Given the description of an element on the screen output the (x, y) to click on. 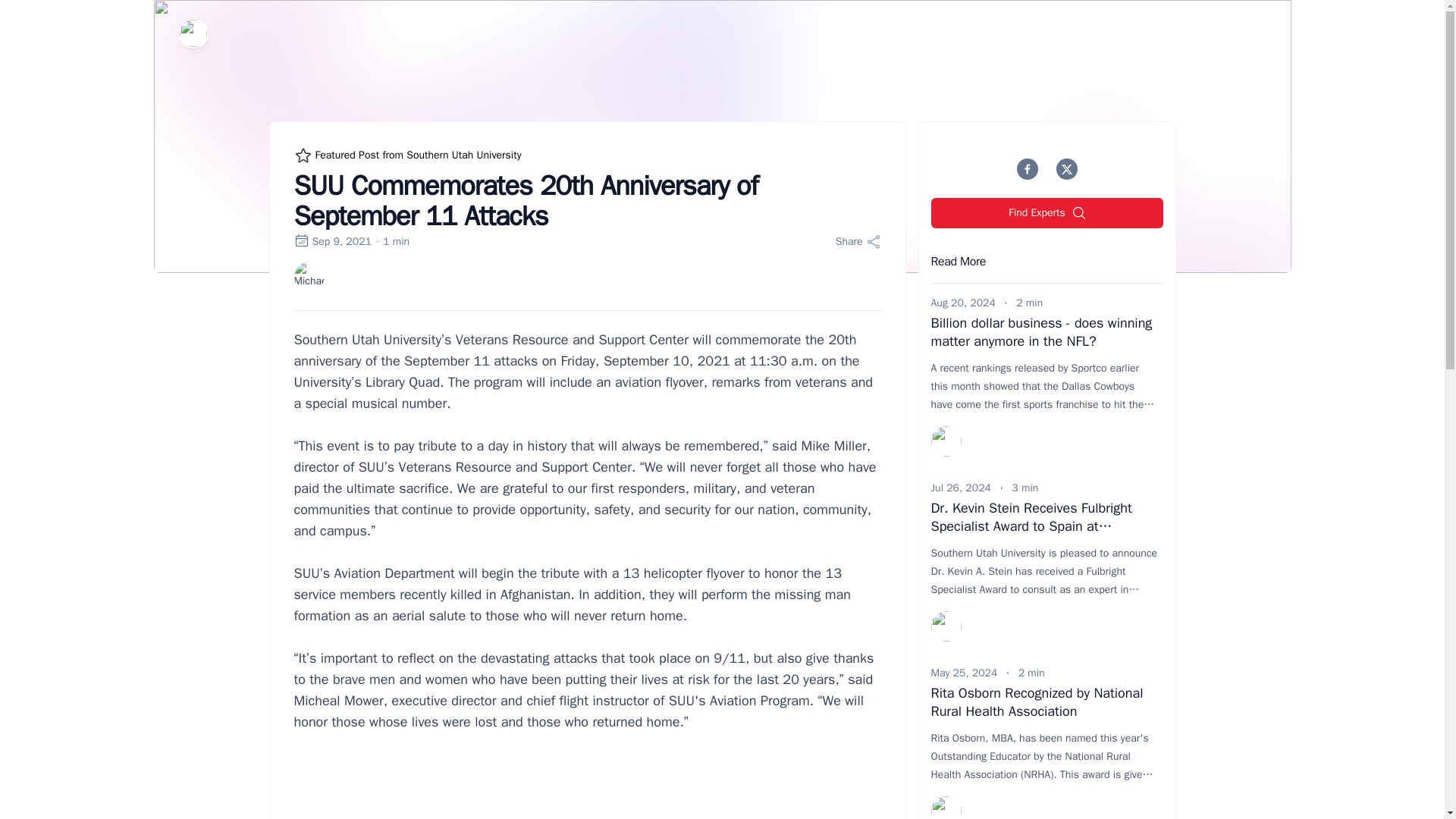
Share (857, 241)
ExpertFile Inc. (192, 33)
Rita Osborn Recognized by National Rural Health Association (1036, 701)
Find Experts (1047, 213)
